Given the description of an element on the screen output the (x, y) to click on. 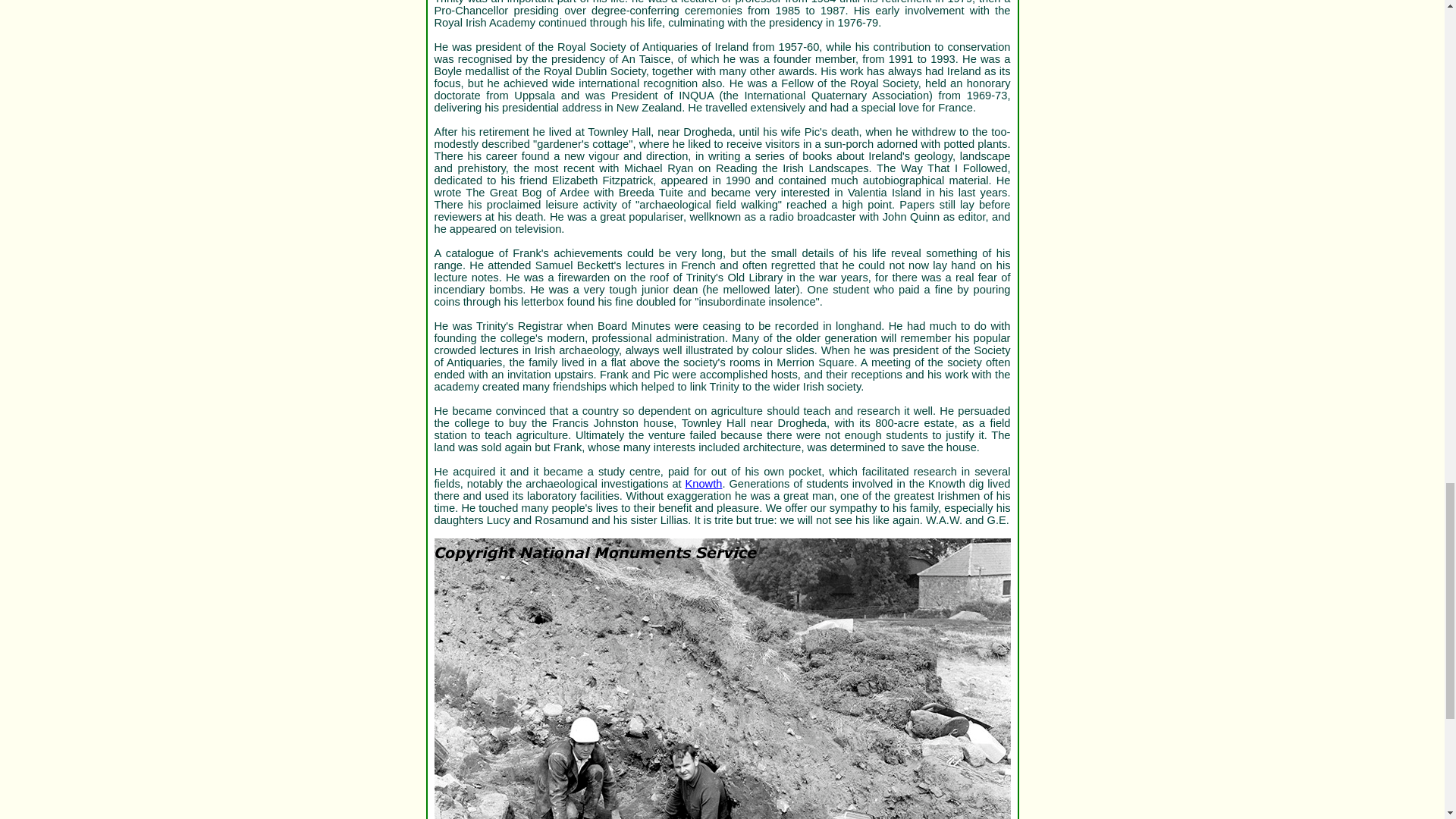
Knowth (703, 483)
